Given the description of an element on the screen output the (x, y) to click on. 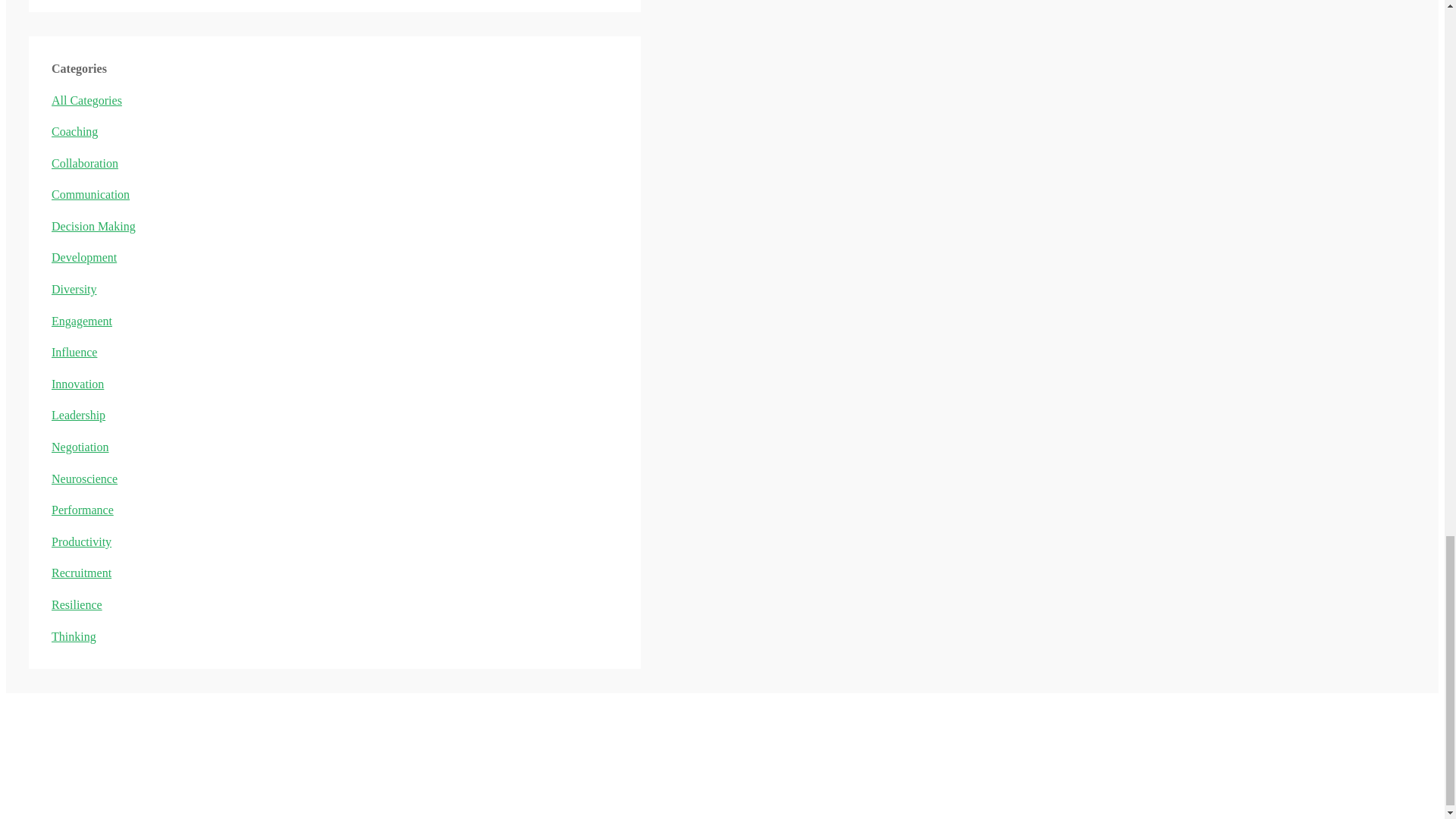
Engagement (81, 320)
Decision Making (92, 226)
Development (83, 256)
All Categories (86, 99)
Performance (81, 509)
Leadership (77, 414)
Communication (89, 194)
Innovation (76, 383)
Coaching (73, 131)
Influence (73, 351)
